Given the description of an element on the screen output the (x, y) to click on. 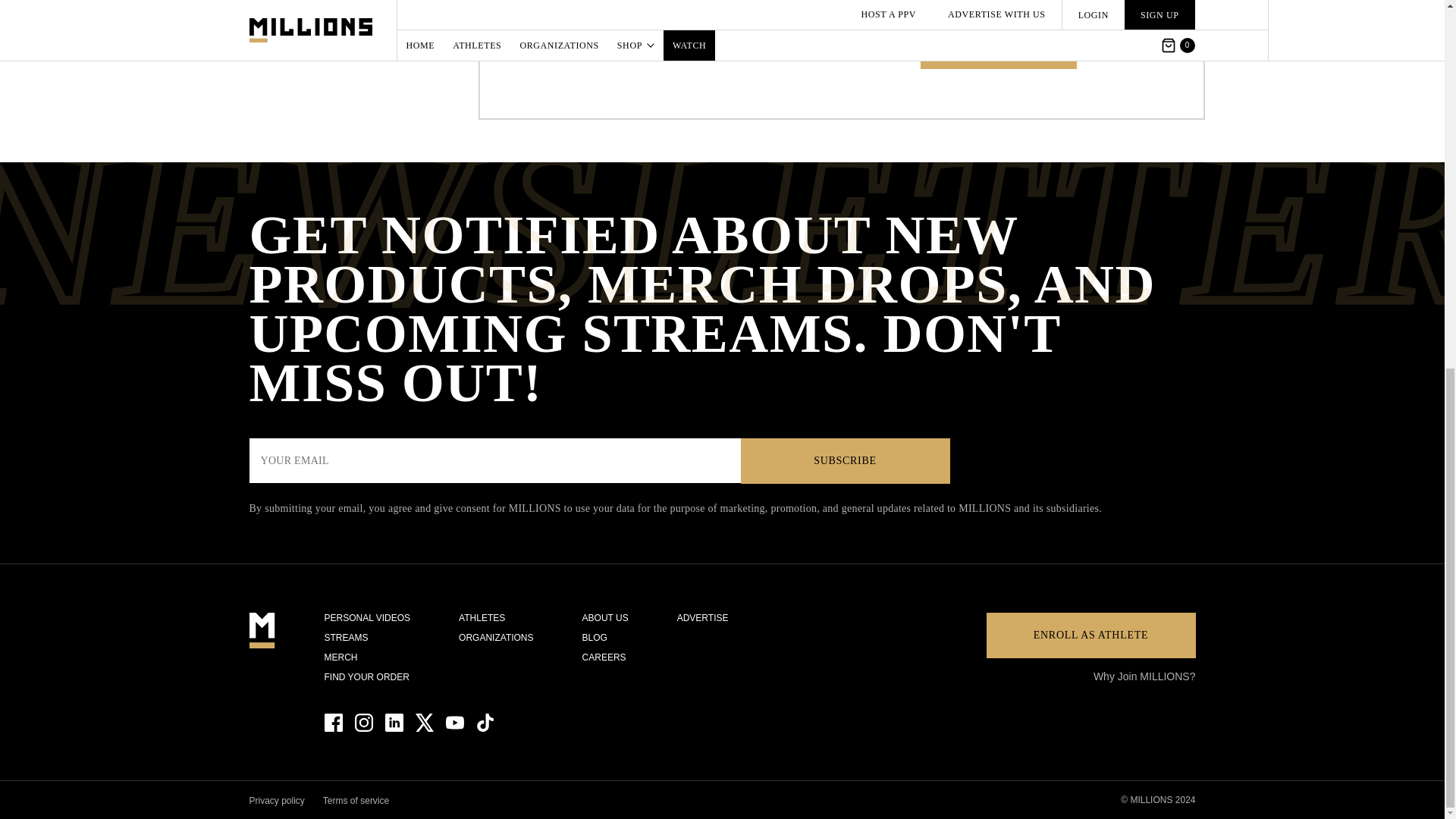
Learn more about Millions at Youtube (454, 722)
Learn more about Millions at Linkedin (394, 722)
Learn more about Millions at Instagram (363, 722)
Learn more about Millions at Facebook (333, 722)
Learn more about Millions at Twitter (423, 722)
